Given the description of an element on the screen output the (x, y) to click on. 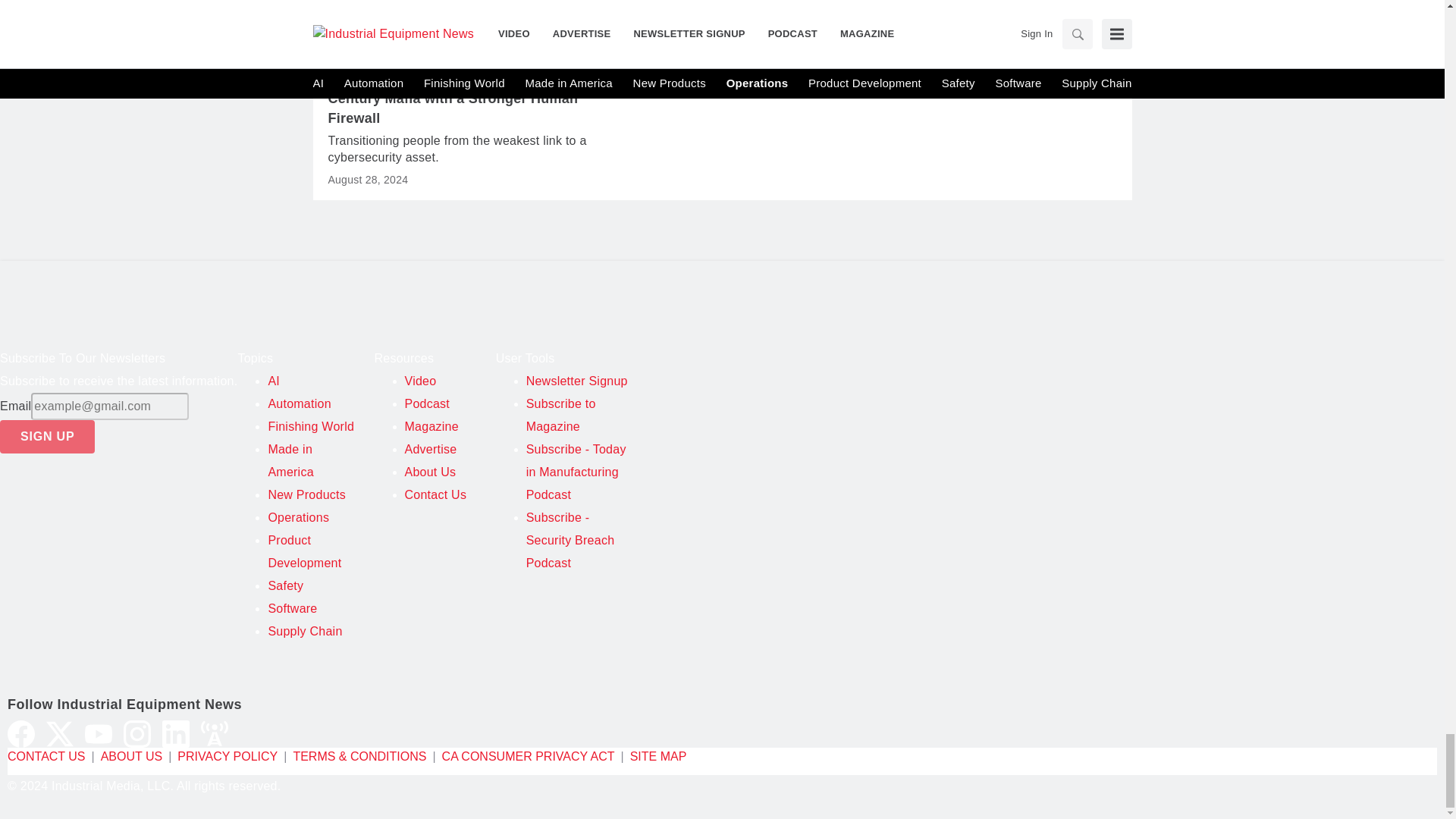
Twitter X icon (60, 733)
Instagram icon (137, 733)
YouTube icon (98, 733)
Facebook icon (20, 733)
LinkedIn icon (175, 733)
